Given the description of an element on the screen output the (x, y) to click on. 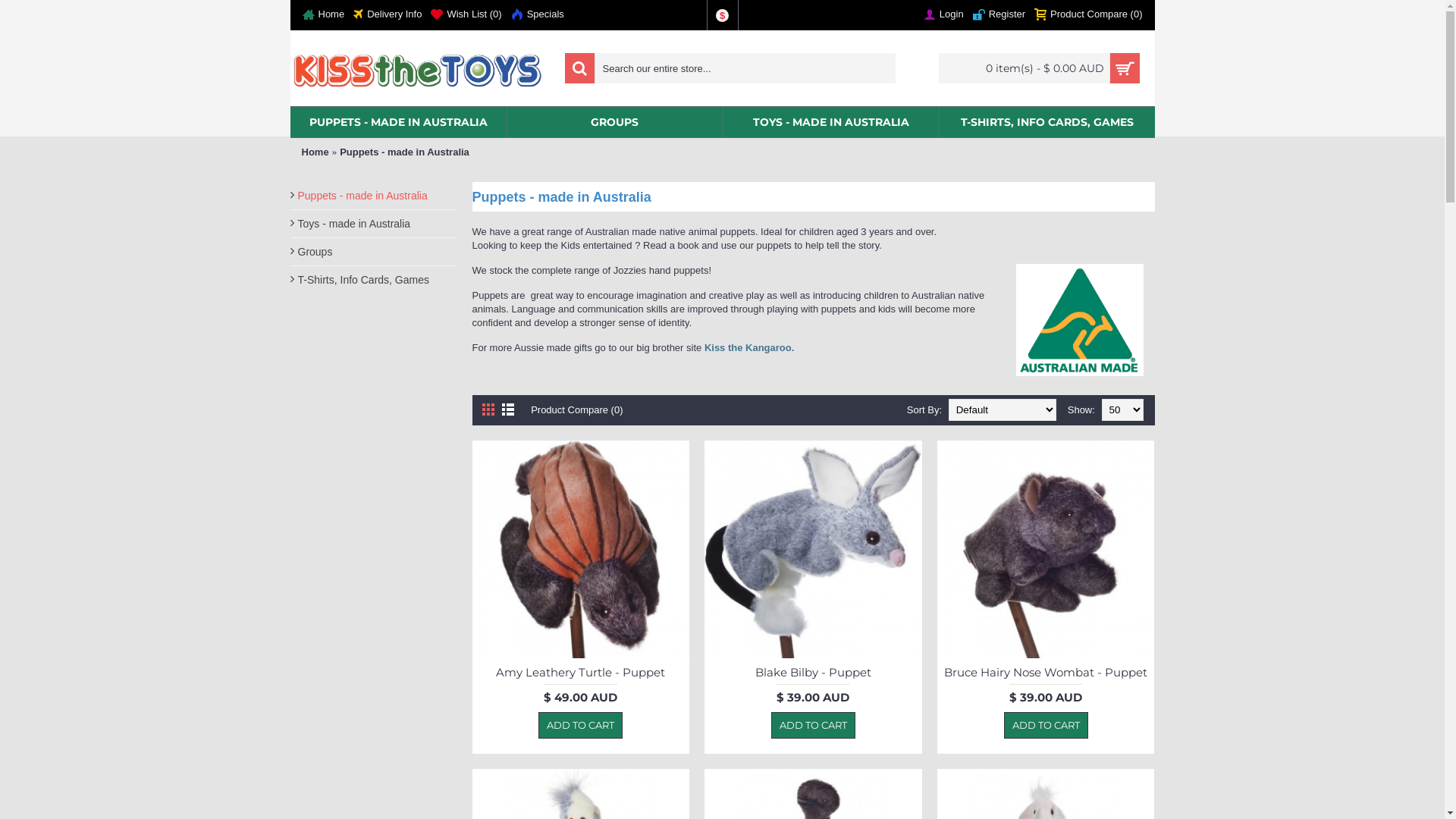
Specials Element type: text (537, 15)
Puppets - made in Australia Element type: text (404, 152)
Amy Leathery Turtle - Puppet Element type: hover (580, 549)
ADD TO CART Element type: text (580, 725)
Wish List (0) Element type: text (465, 15)
TOYS - MADE IN AUSTRALIA Element type: text (830, 121)
Product Compare (0) Element type: text (1087, 15)
Groups Element type: text (372, 252)
Kiss the Toys Element type: hover (419, 67)
Home Element type: text (315, 152)
Home Element type: text (322, 15)
Bruce Hairy Nose Wombat - Puppet Element type: text (1045, 671)
$ Element type: text (721, 15)
Register Element type: text (998, 15)
Puppets - made in Australia Element type: text (372, 196)
GROUPS Element type: text (613, 121)
0 item(s) - $ 0.00 AUD Element type: text (1038, 68)
Login Element type: text (943, 15)
PUPPETS - MADE IN AUSTRALIA Element type: text (397, 121)
Kiss the Kangaroo.  Element type: text (750, 347)
ADD TO CART Element type: text (813, 725)
ADD TO CART Element type: text (1046, 725)
T-SHIRTS, INFO CARDS, GAMES Element type: text (1046, 121)
Bruce Hairy Nose Wombat - Puppet Element type: hover (1045, 549)
Amy Leathery Turtle - Puppet Element type: text (580, 671)
Blake Bilby - Puppet Element type: text (813, 671)
Product Compare (0) Element type: text (576, 409)
Blake Bilby - Puppet Element type: hover (813, 549)
T-Shirts, Info Cards, Games Element type: text (372, 279)
Toys - made in Australia Element type: text (372, 224)
Delivery Info Element type: text (387, 15)
